Given the description of an element on the screen output the (x, y) to click on. 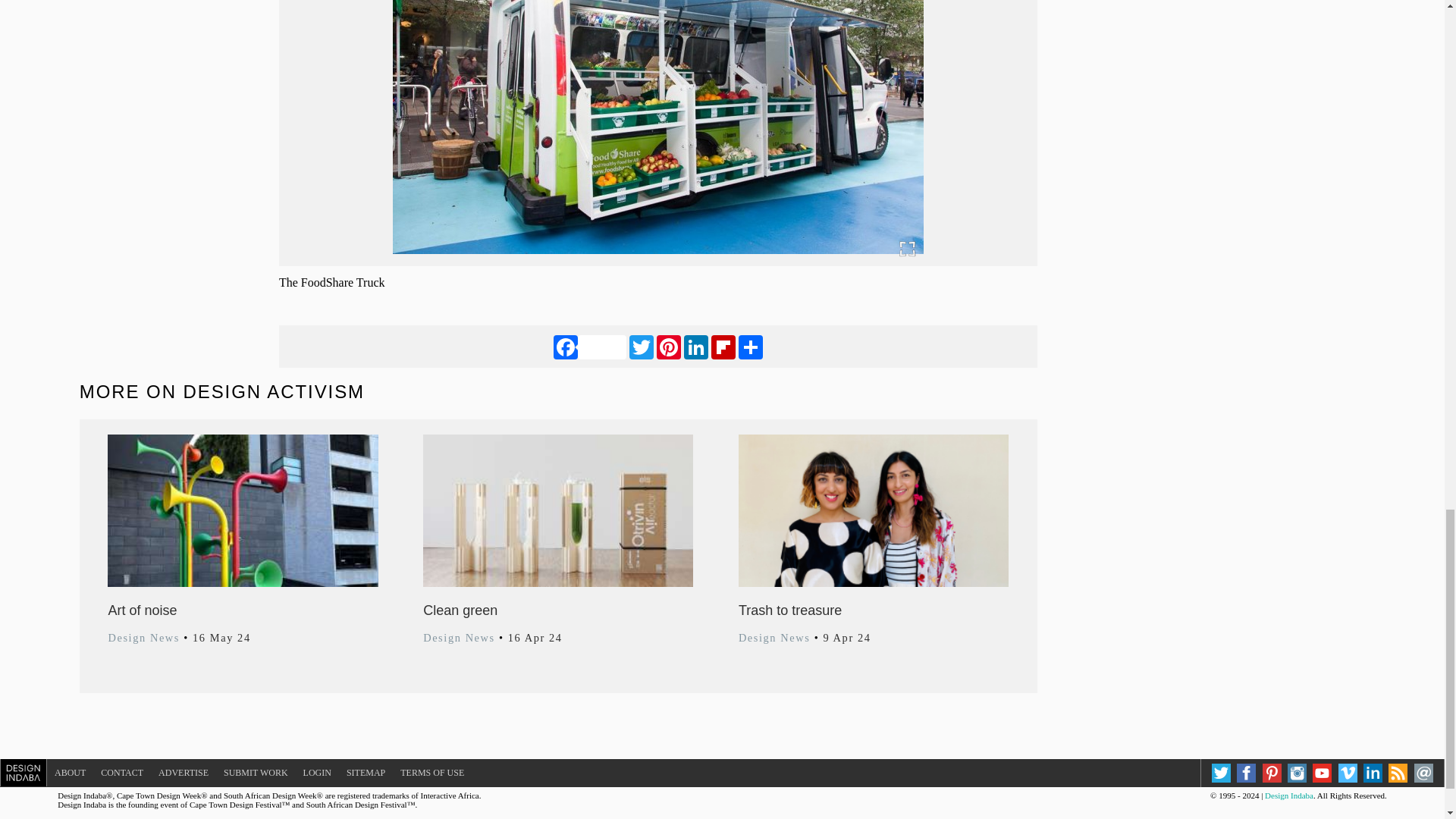
Pinterest (668, 345)
DESIGN ACTIVISM (274, 391)
Twitter (640, 345)
LinkedIn (695, 345)
Share (750, 345)
Flipboard (723, 345)
Facebook (589, 345)
